Given the description of an element on the screen output the (x, y) to click on. 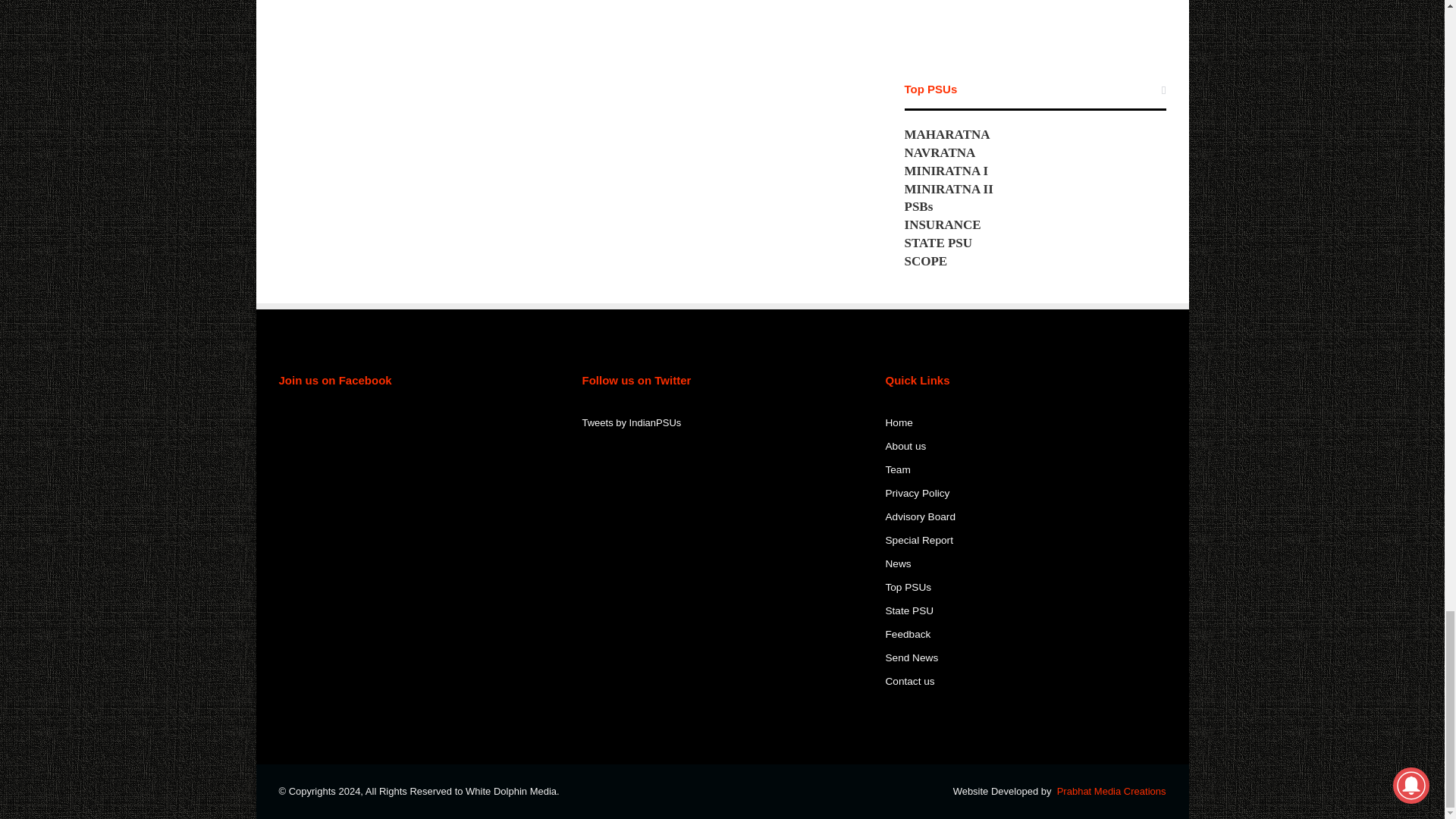
YouTube video player (1035, 21)
